Given the description of an element on the screen output the (x, y) to click on. 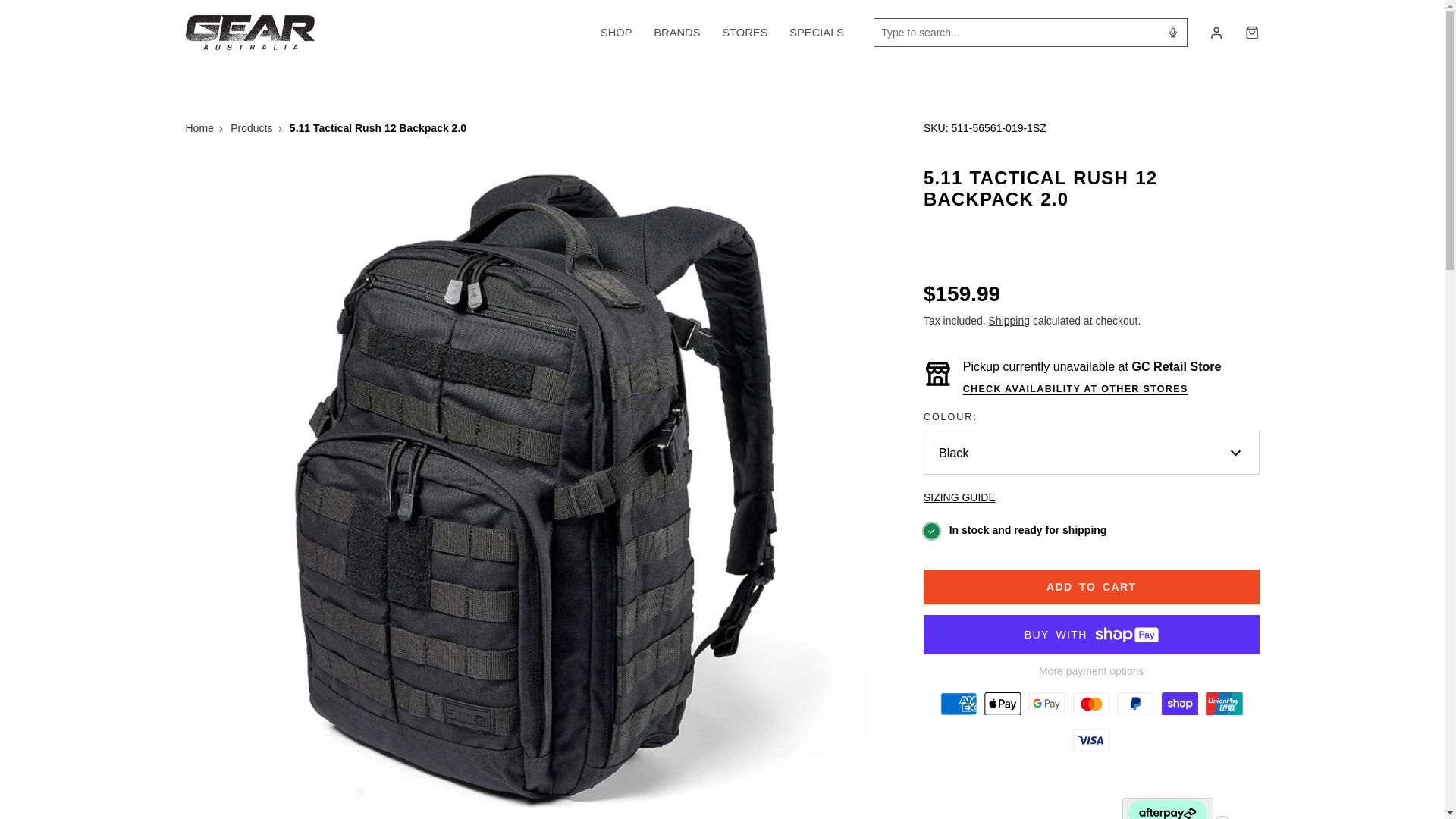
Apple Pay (1002, 703)
American Express (958, 703)
PayPal (1135, 703)
Mastercard (1091, 703)
Shop Pay (1179, 703)
Google Pay (1046, 703)
Sizing Guides (959, 497)
Union Pay (1224, 703)
Visa (1091, 739)
